Given the description of an element on the screen output the (x, y) to click on. 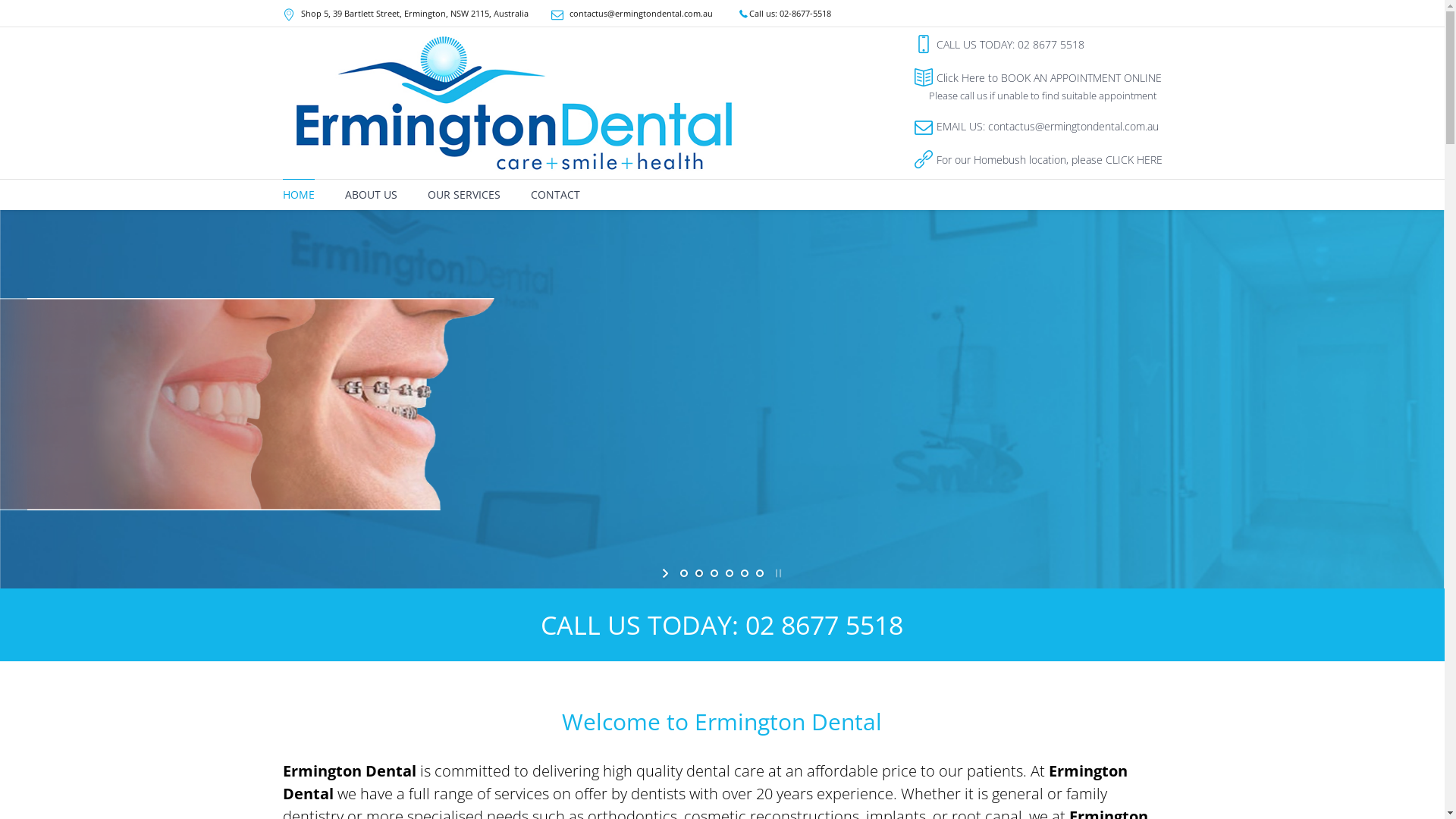
CONTACT Element type: text (555, 194)
Call us: 02-8677-5518 Element type: text (783, 12)
OUR SERVICES Element type: text (463, 194)
contactus@ermingtondental.com.au Element type: text (1072, 126)
CLICK HERE Element type: text (1133, 159)
Click Here to BOOK AN APPOINTMENT ONLINE Element type: text (1048, 77)
Shop 5, 39 Bartlett Street, Ermington, NSW 2115, Australia Element type: text (413, 12)
ABOUT US Element type: text (370, 194)
contactus@ermingtondental.com.au Element type: text (640, 12)
HOME Element type: text (297, 194)
